Given the description of an element on the screen output the (x, y) to click on. 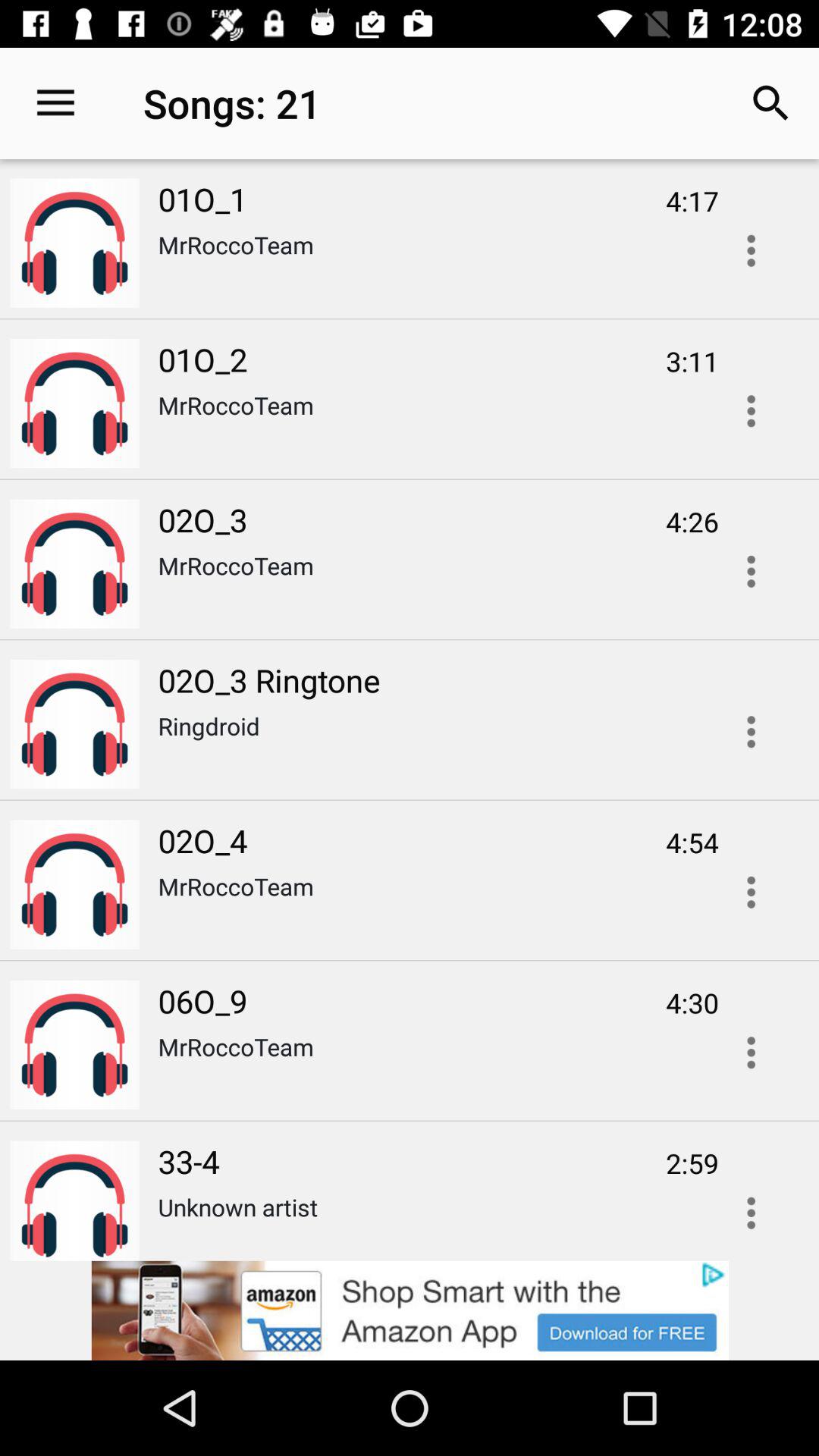
overflow action button (750, 571)
